Given the description of an element on the screen output the (x, y) to click on. 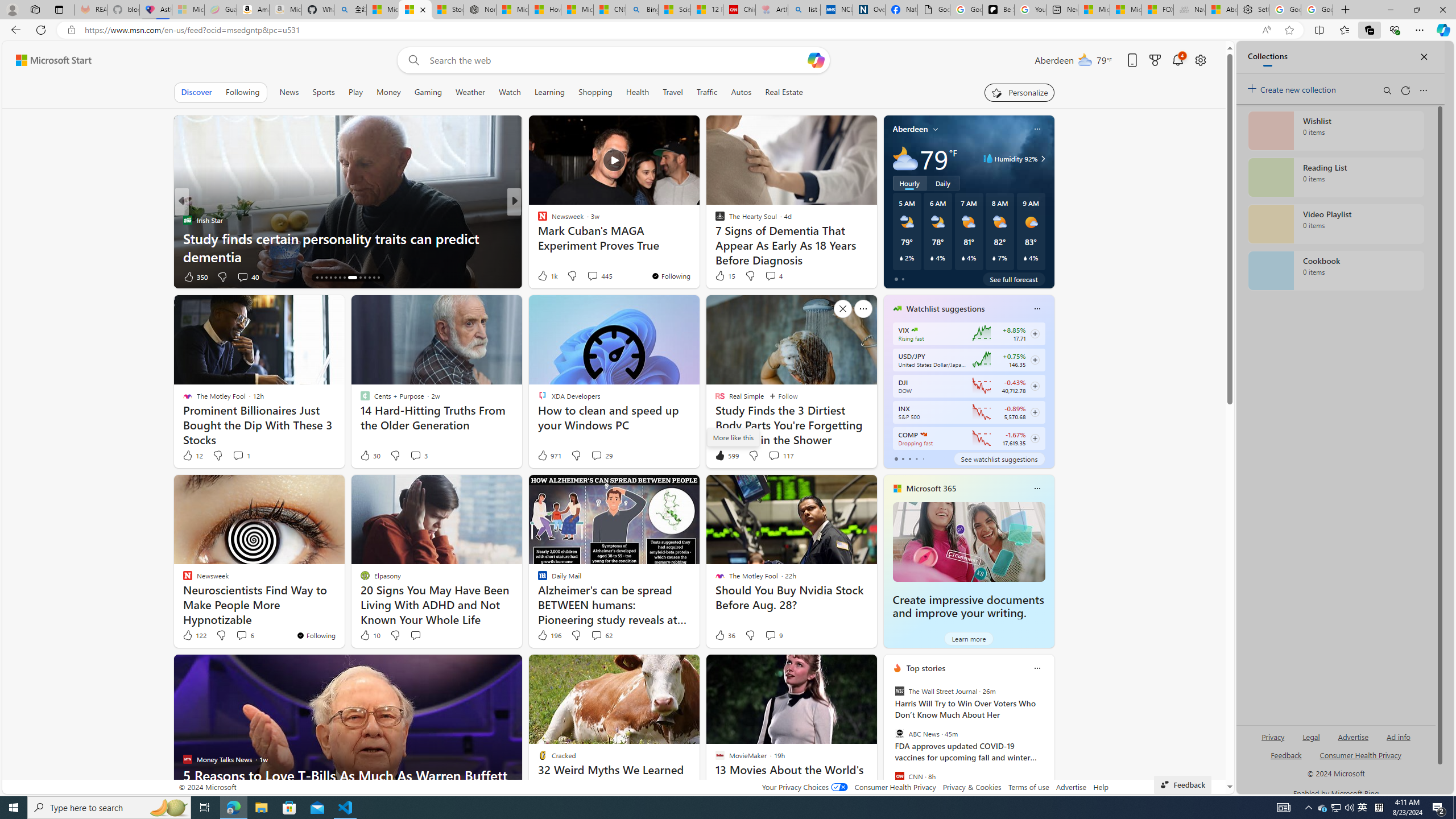
AutomationID: tab-23 (364, 277)
View comments 34 Comment (589, 276)
View comments 4 Comment (770, 275)
